Given the description of an element on the screen output the (x, y) to click on. 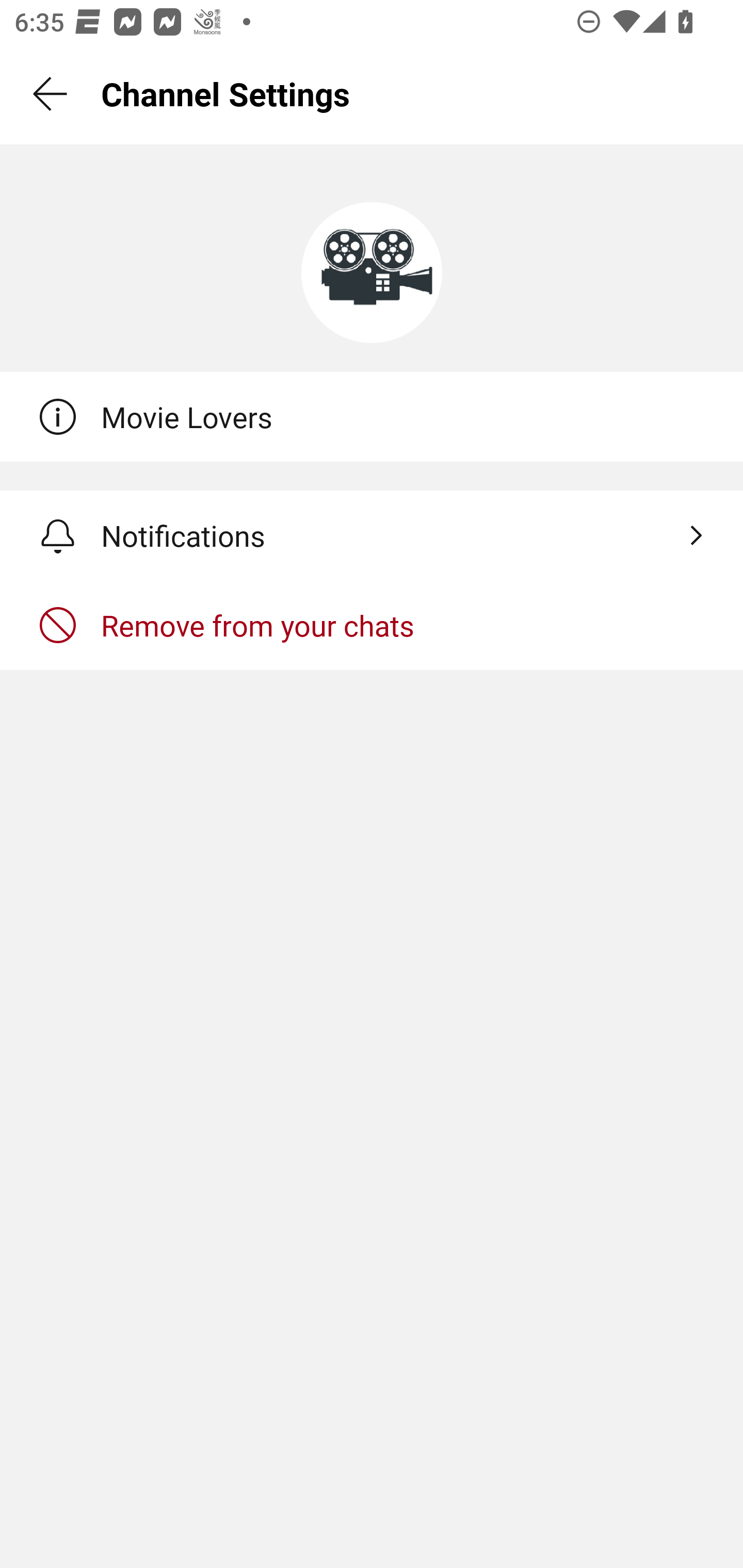
Back (50, 93)
Notifications (371, 535)
Remove from your chats (371, 624)
